Given the description of an element on the screen output the (x, y) to click on. 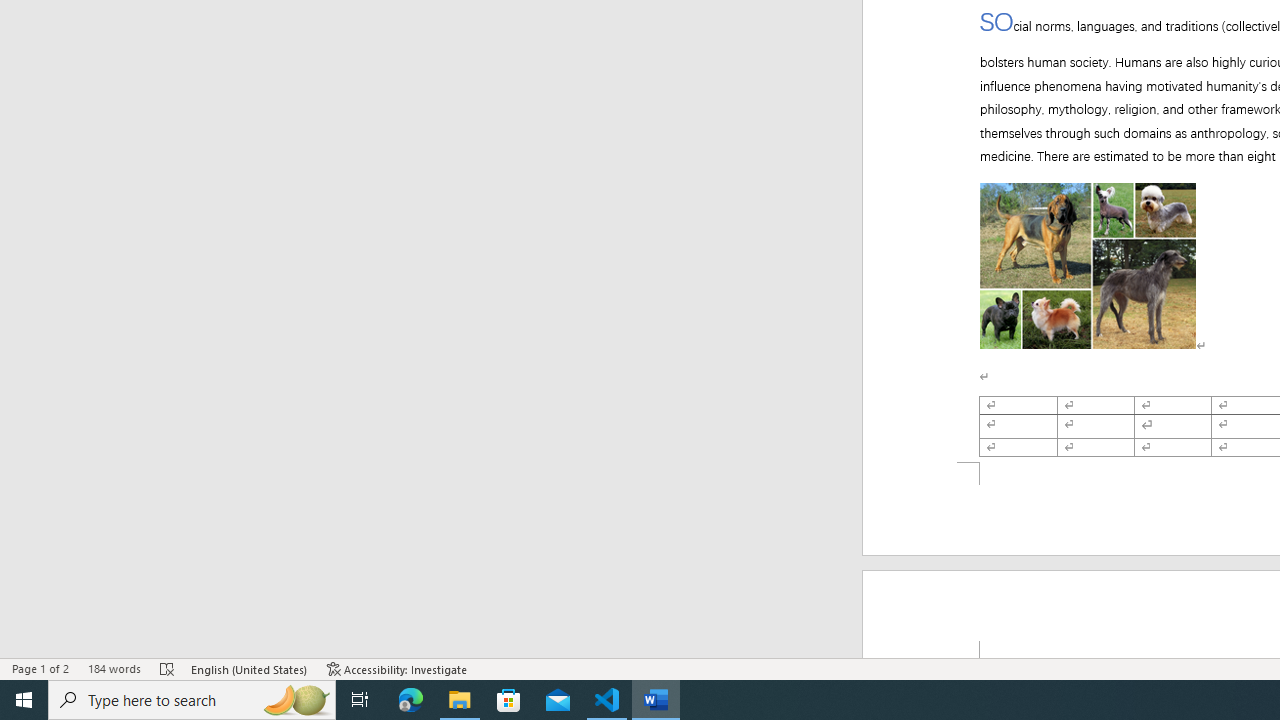
Visual Studio Code - 1 running window (607, 699)
Language English (United States) (250, 668)
Spelling and Grammar Check Errors (168, 668)
File Explorer - 1 running window (460, 699)
Morphological variation in six dogs (1087, 253)
Page Number Page 1 of 2 (39, 668)
Microsoft Store (509, 699)
Accessibility Checker Accessibility: Investigate (397, 668)
Microsoft Edge (411, 699)
Word - 1 running window (656, 699)
Task View (359, 699)
Type here to search (191, 699)
Search highlights icon opens search home window (295, 699)
